Given the description of an element on the screen output the (x, y) to click on. 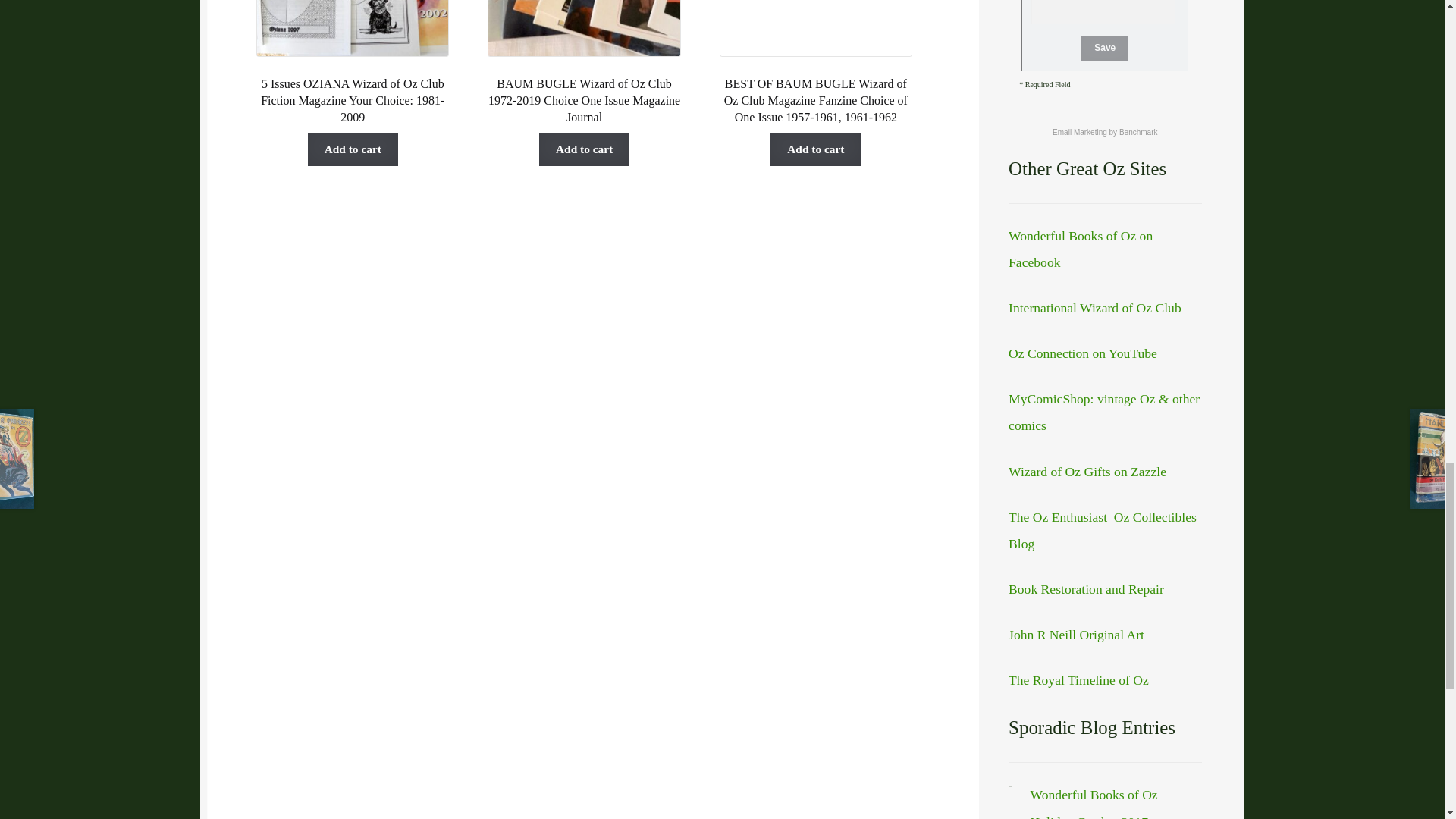
Save (1104, 48)
